Given the description of an element on the screen output the (x, y) to click on. 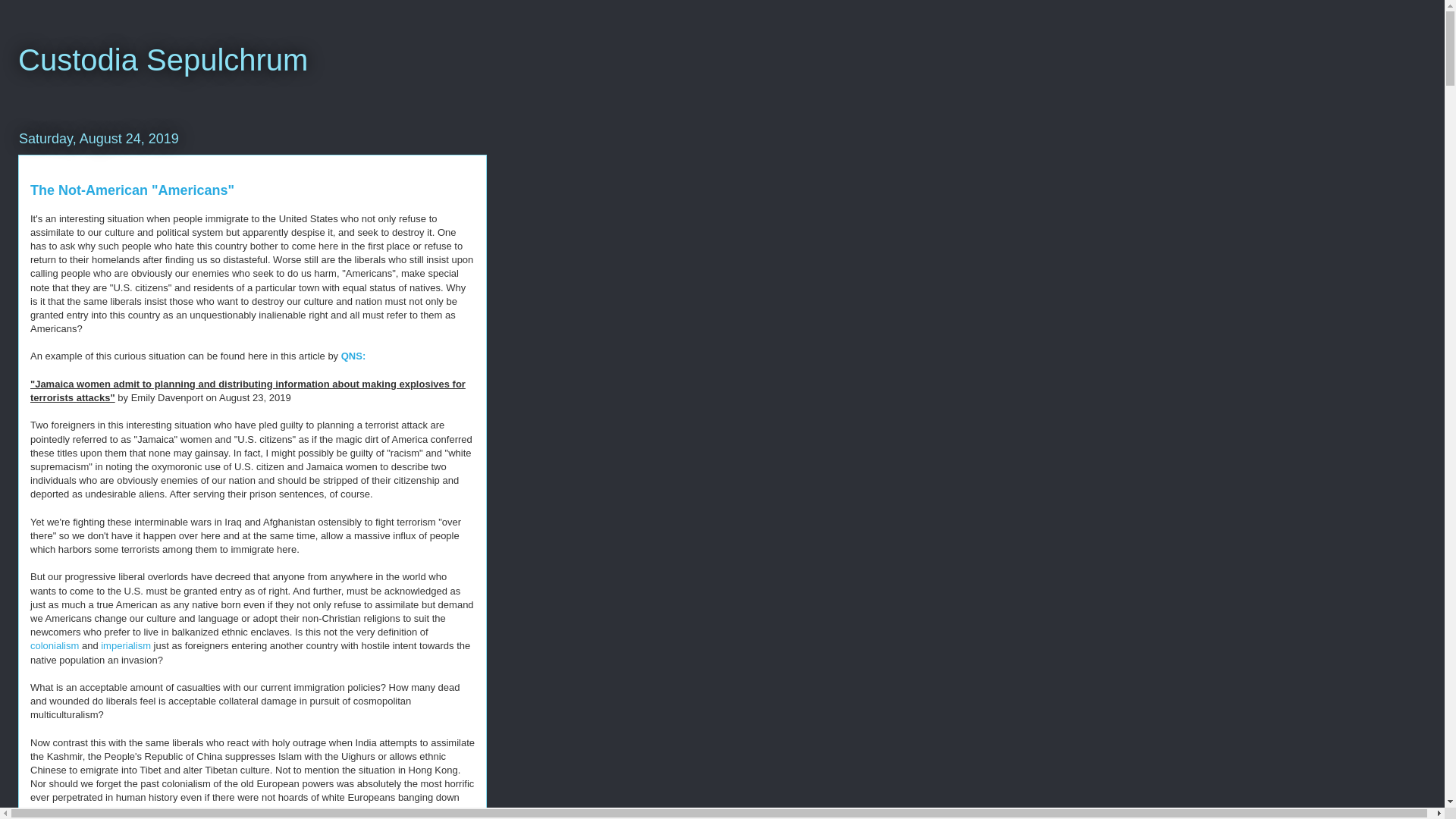
Custodia Sepulchrum (162, 59)
QNS:  (354, 355)
imperialism (125, 645)
colonialism (54, 645)
